Given the description of an element on the screen output the (x, y) to click on. 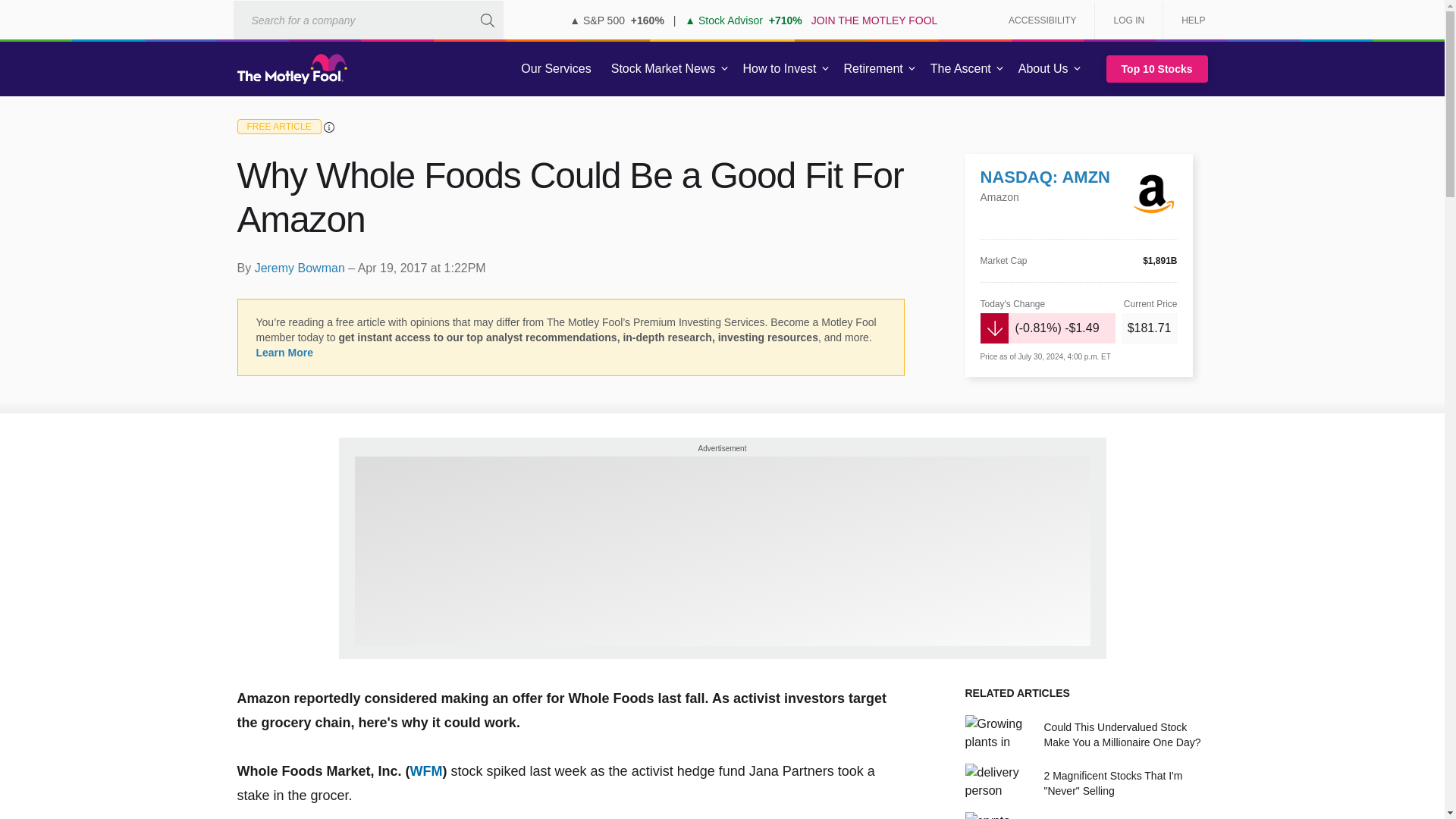
LOG IN (1128, 19)
Our Services (555, 68)
HELP (1187, 19)
ACCESSIBILITY (1042, 19)
How to Invest (779, 68)
Stock Market News (662, 68)
